Given the description of an element on the screen output the (x, y) to click on. 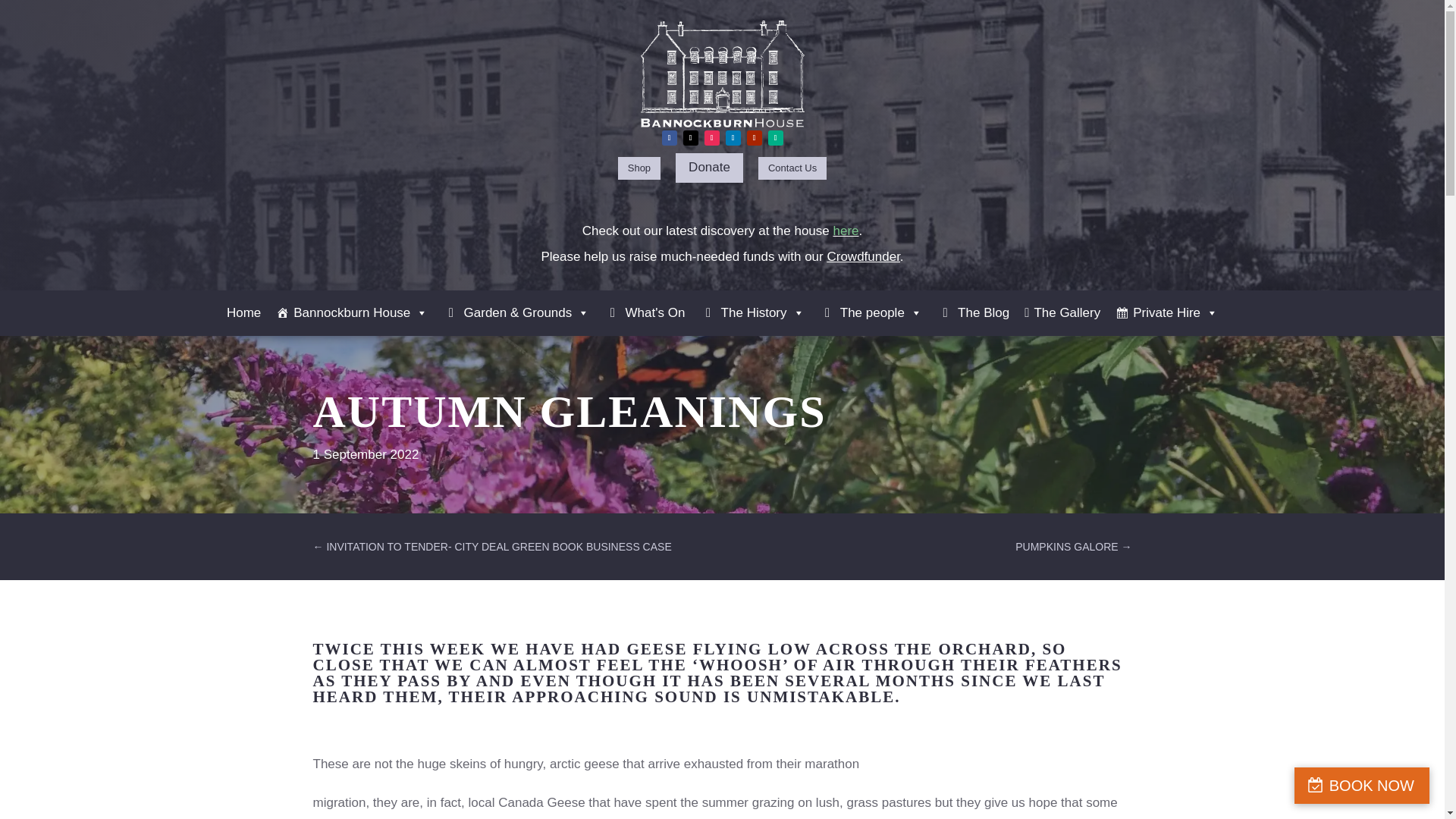
The people (871, 312)
Follow on X (689, 137)
here (845, 230)
bannockburn-house-white (721, 73)
Follow on TripAdvisor (775, 137)
Donate (708, 167)
The History (751, 312)
Shop (639, 168)
Follow on LinkedIn (732, 137)
Crowdfunder (863, 256)
Follow on Instagram (711, 137)
Follow on Facebook (669, 137)
The Gallery (1062, 312)
Private Hire (1166, 312)
Contact Us (792, 168)
